Given the description of an element on the screen output the (x, y) to click on. 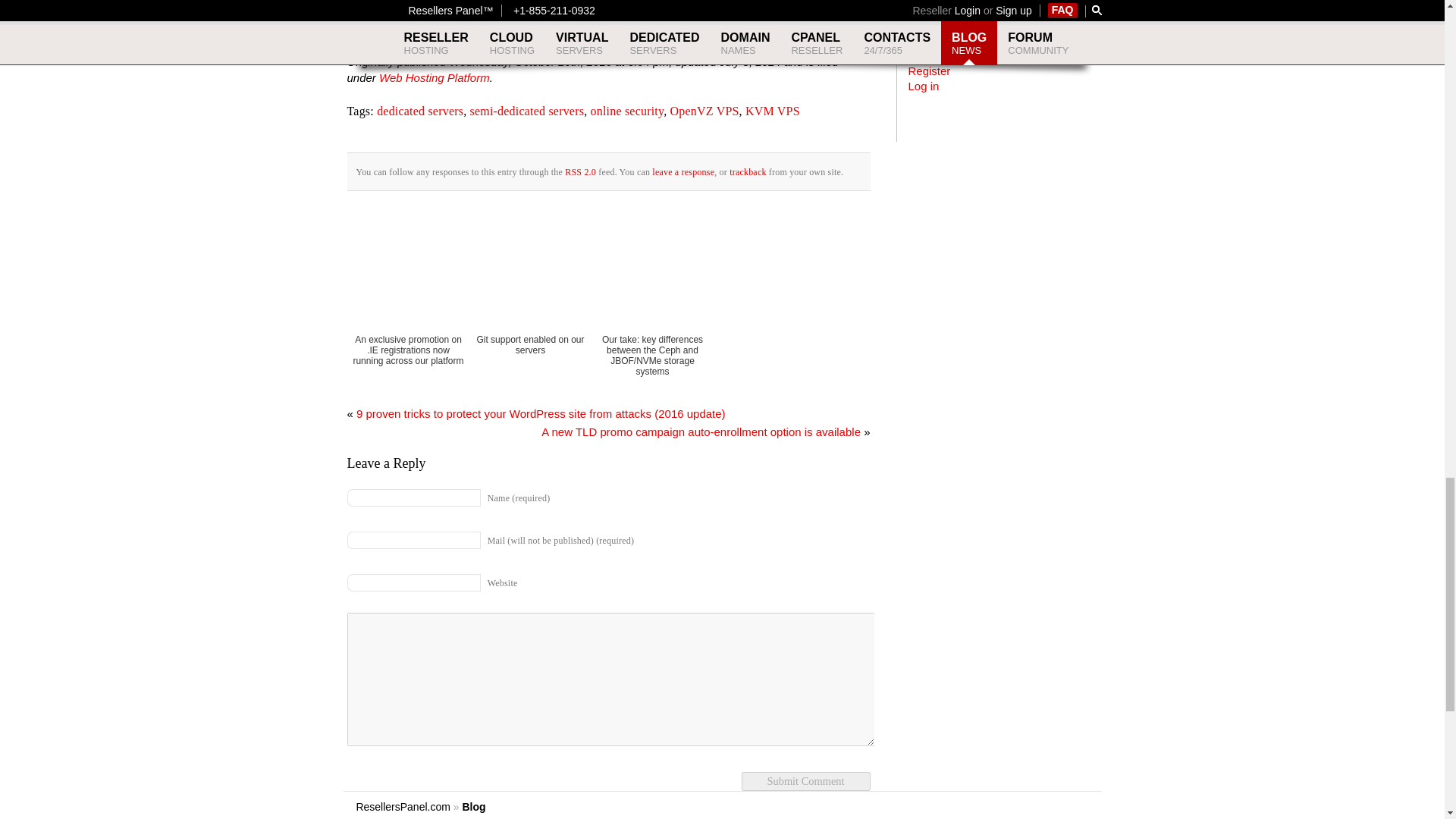
KVM VPS (441, 5)
dedicated servers (420, 110)
Submit Comment (805, 781)
dedicated servers (575, 5)
OpenVZ VPS (605, 5)
online security (627, 110)
Web Hosting Platform (433, 77)
semi-dedicated servers (527, 110)
